Given the description of an element on the screen output the (x, y) to click on. 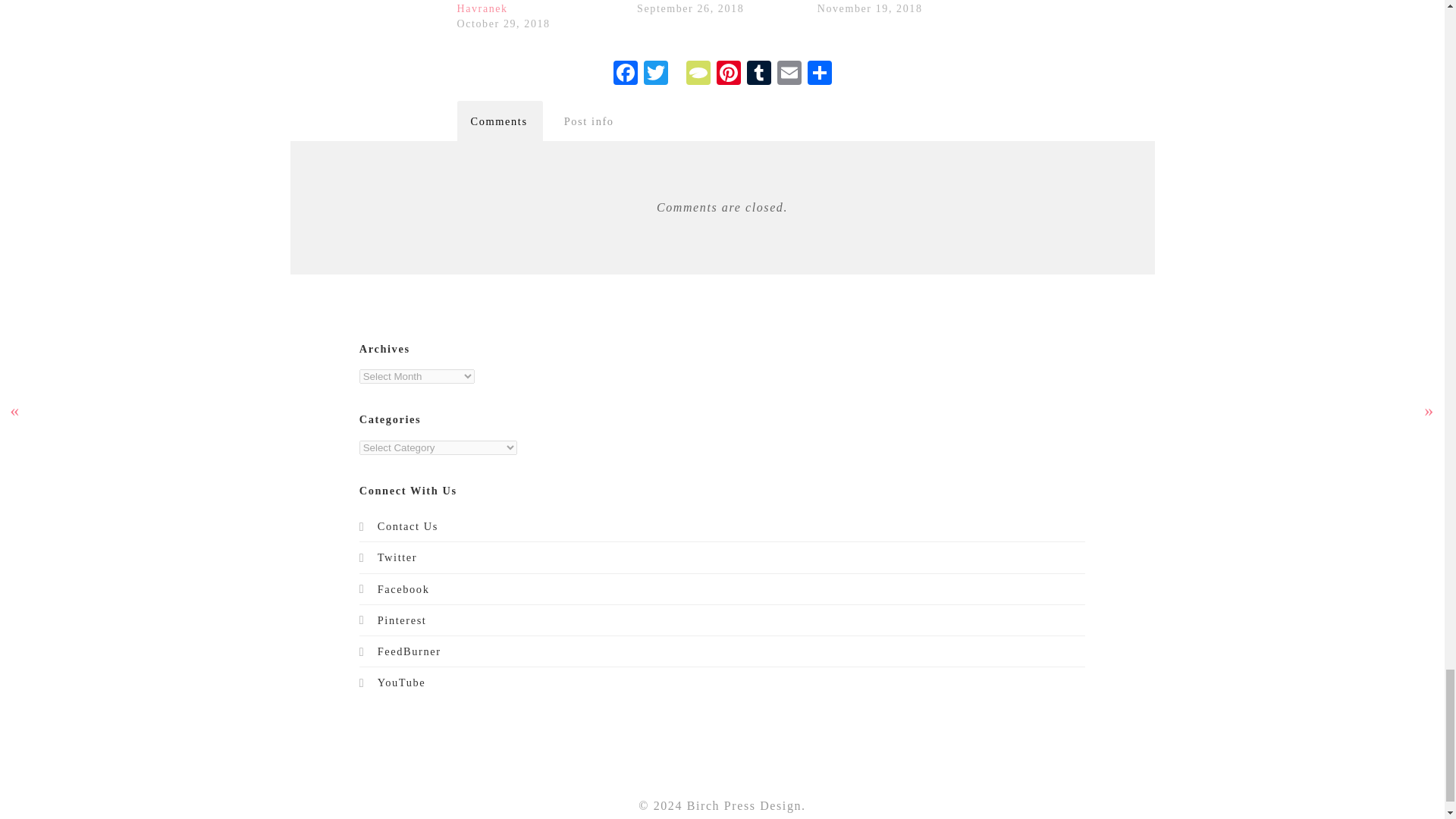
Pinterest (727, 74)
Facebook (625, 74)
Twitter (654, 74)
TypePad (697, 74)
